Given the description of an element on the screen output the (x, y) to click on. 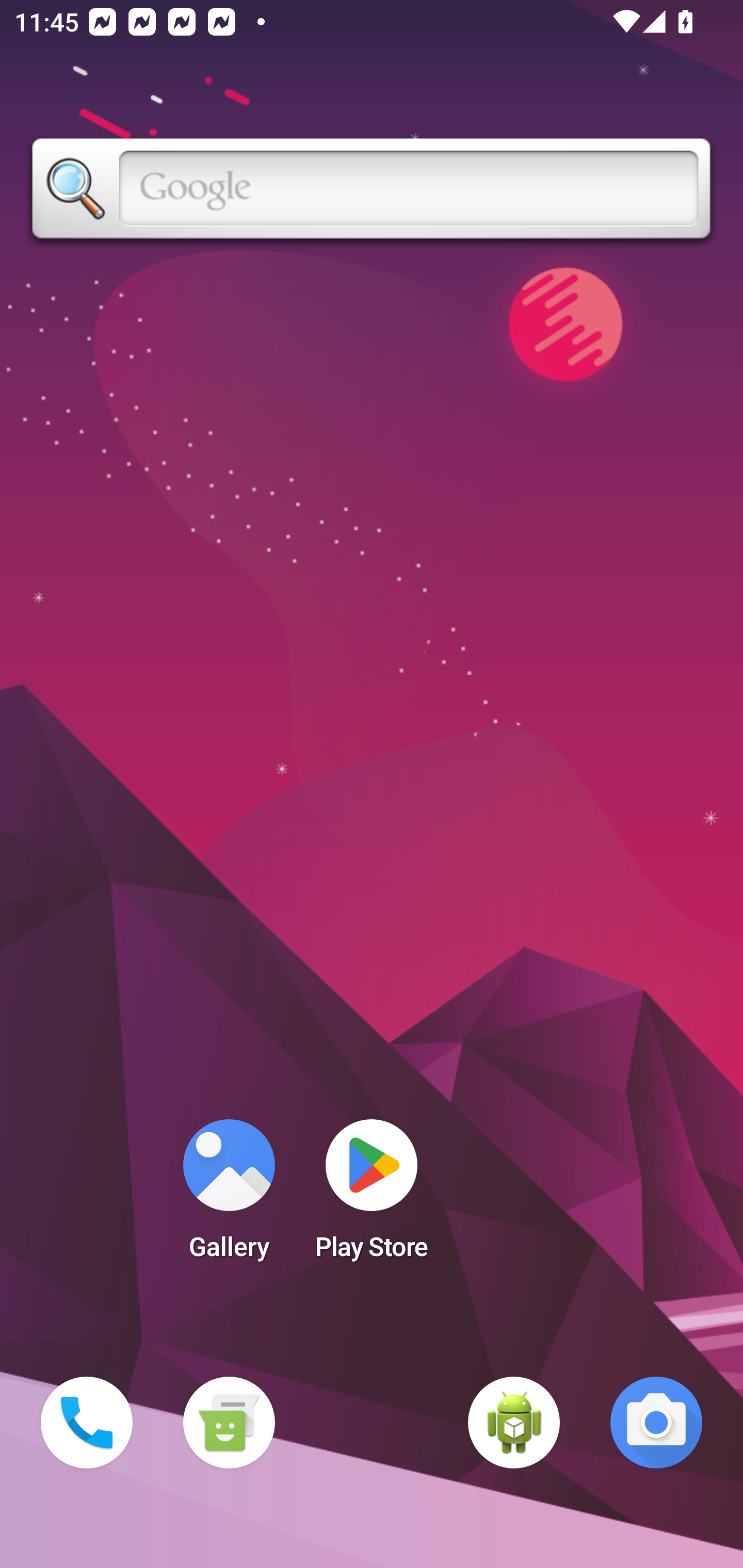
Gallery (228, 1195)
Play Store (371, 1195)
Phone (86, 1422)
Messaging (228, 1422)
WebView Browser Tester (513, 1422)
Camera (656, 1422)
